Given the description of an element on the screen output the (x, y) to click on. 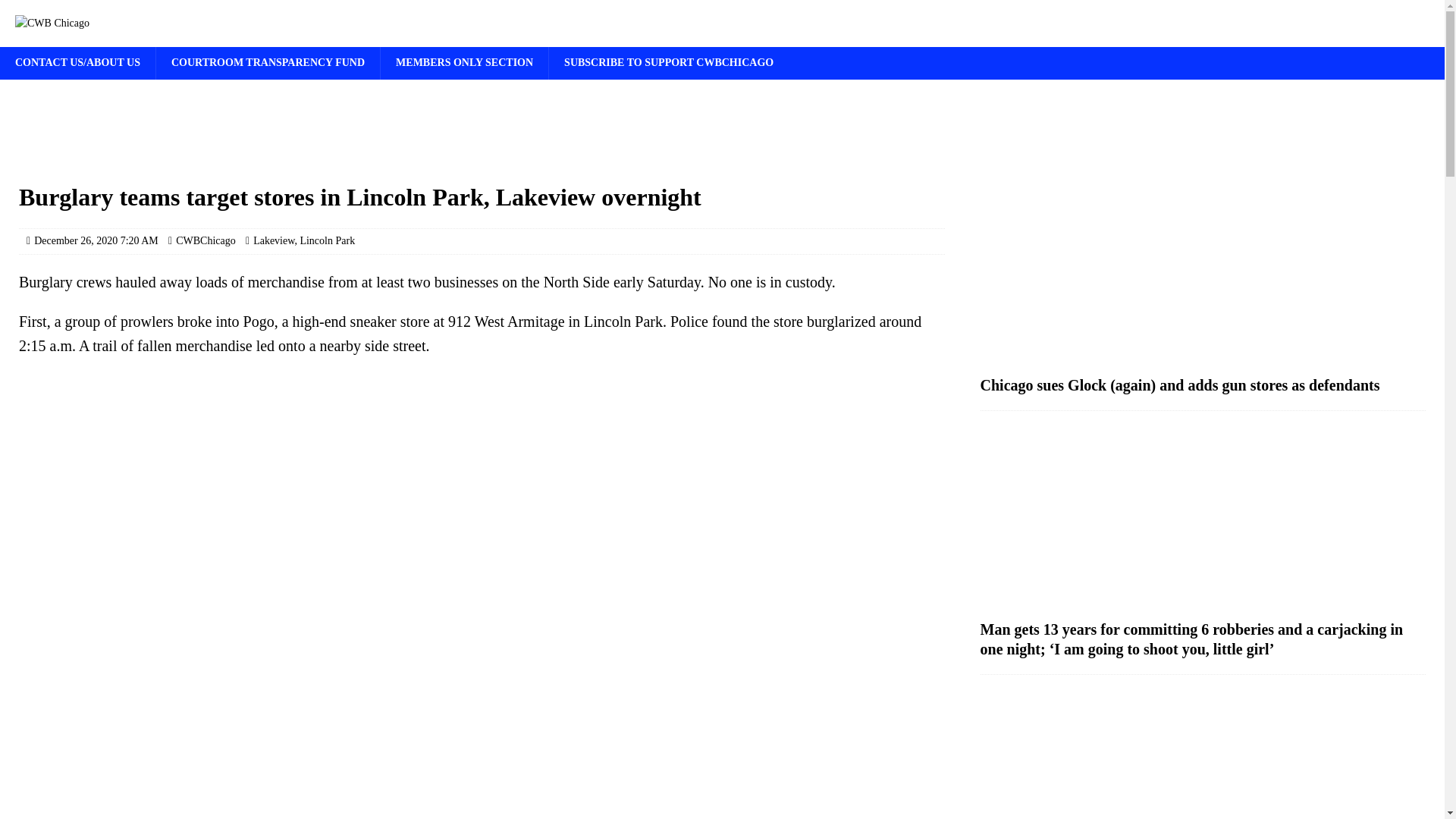
COURTROOM TRANSPARENCY FUND (267, 62)
December 26, 2020 7:20 AM (95, 240)
Lincoln Park (327, 240)
SUBSCRIBE TO SUPPORT CWBCHICAGO (668, 62)
MEMBERS ONLY SECTION (464, 62)
Lakeview (273, 240)
CWBChicago (205, 240)
